Given the description of an element on the screen output the (x, y) to click on. 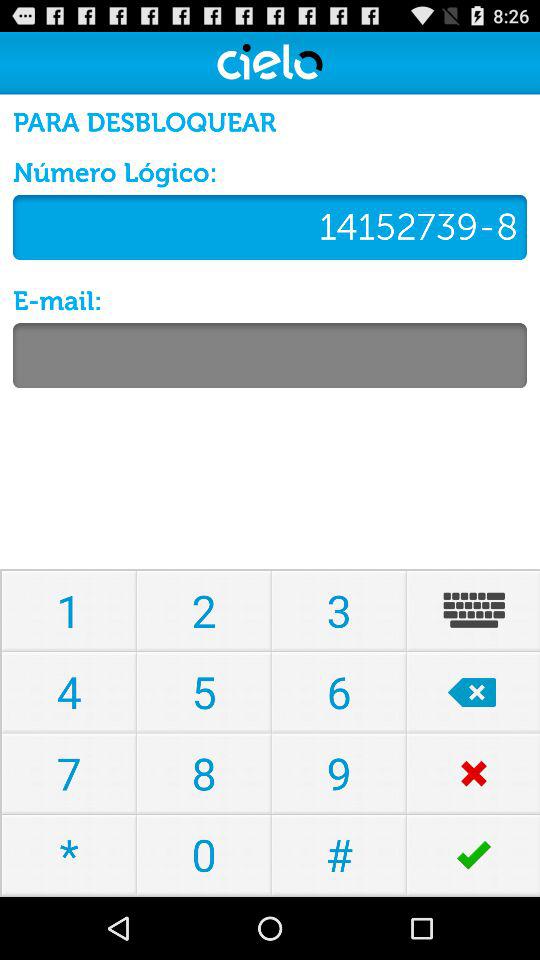
email address (269, 355)
